Given the description of an element on the screen output the (x, y) to click on. 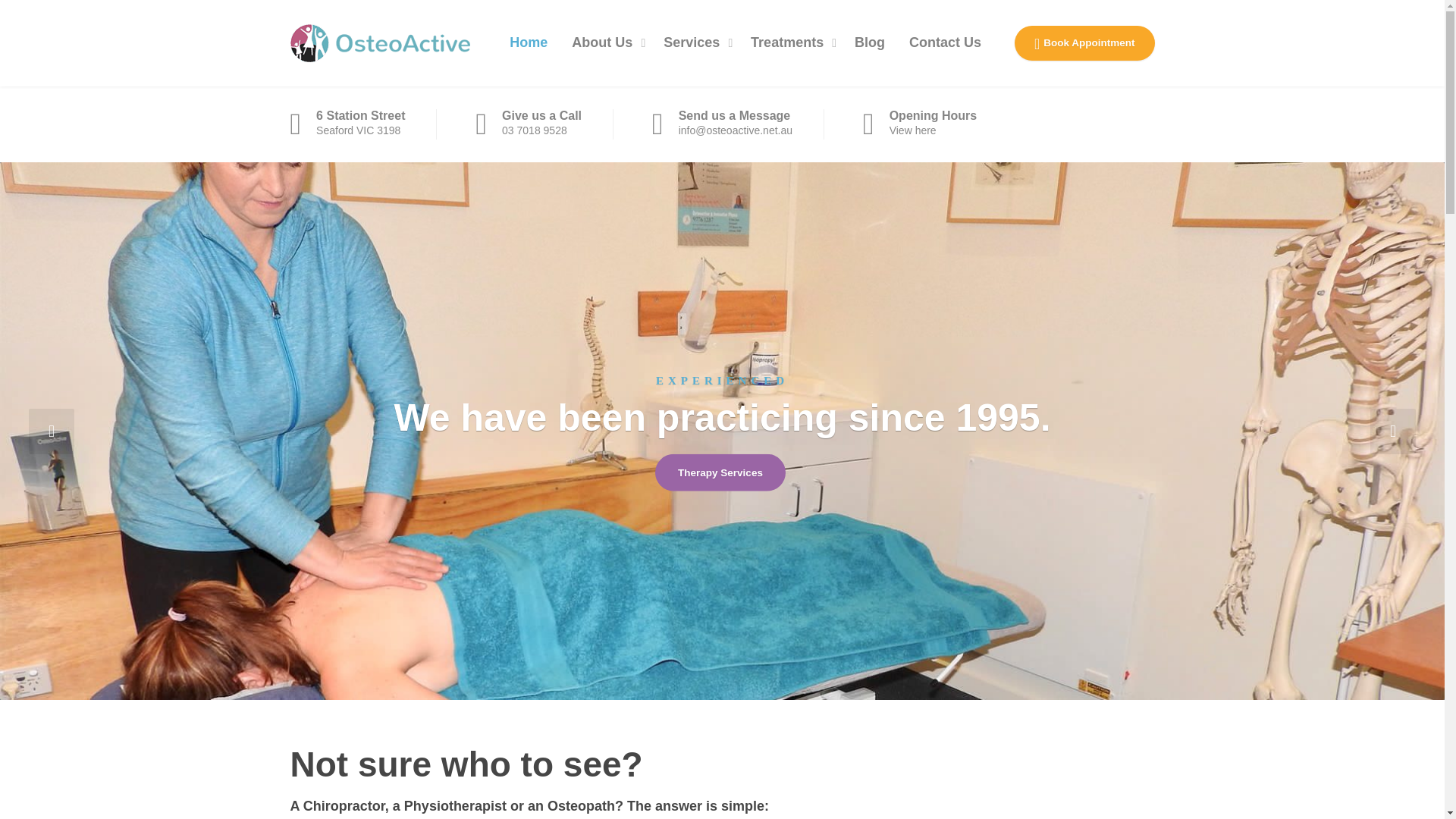
Contact Us (944, 43)
Treatments (790, 43)
Services (694, 43)
About Us (604, 43)
Therapy Services (720, 472)
OsteoActive Edithvale (378, 42)
Book Appointment (1084, 42)
